Given the description of an element on the screen output the (x, y) to click on. 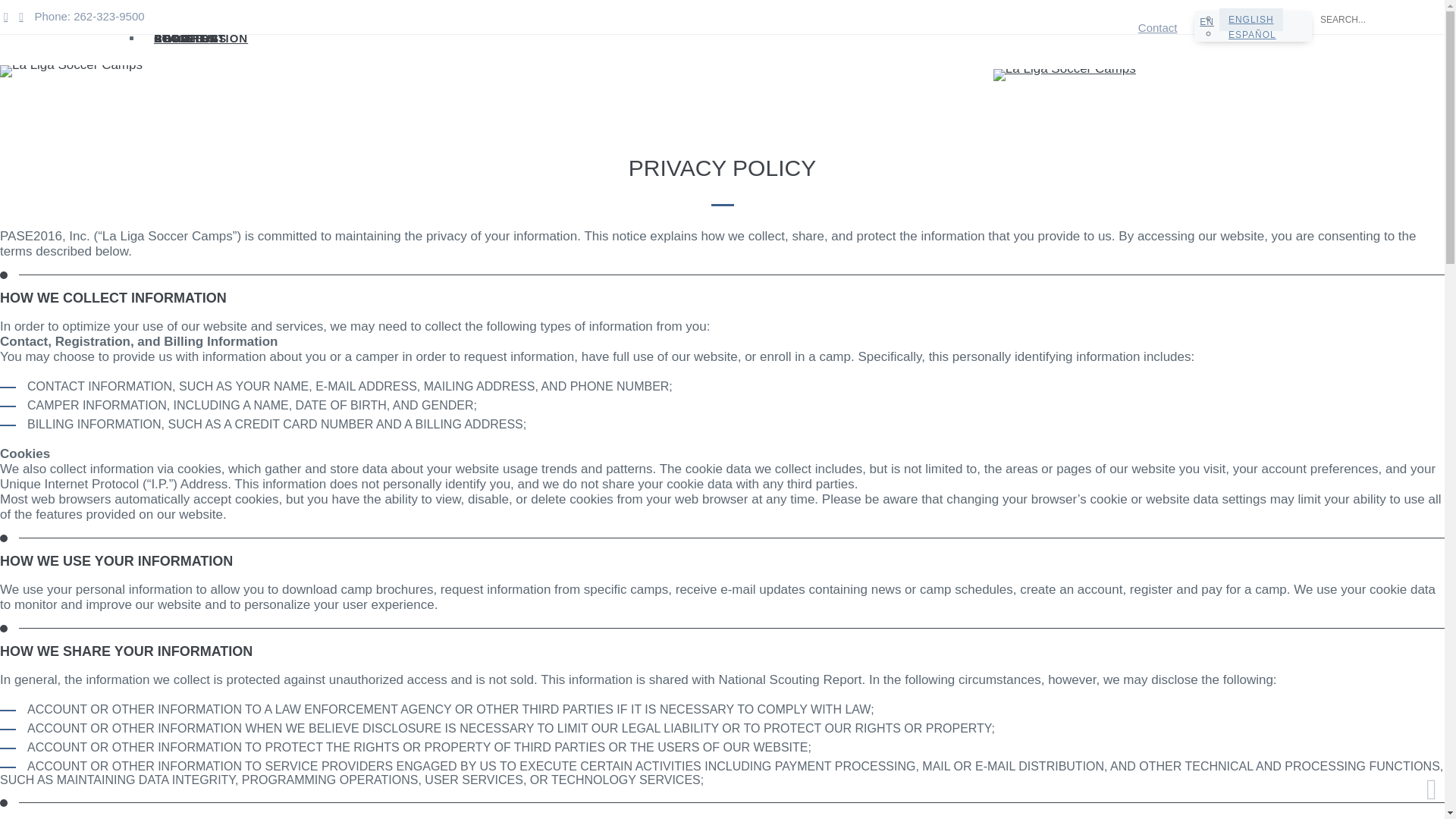
LOCATIONS (190, 37)
ABOUT US (186, 37)
REGISTRATION (200, 37)
COACHES (184, 37)
La Liga Soccer Camps (71, 70)
La Liga Soccer Camps (1063, 74)
ENGLISH (1251, 19)
STAGES (178, 37)
Contact (1157, 27)
